Given the description of an element on the screen output the (x, y) to click on. 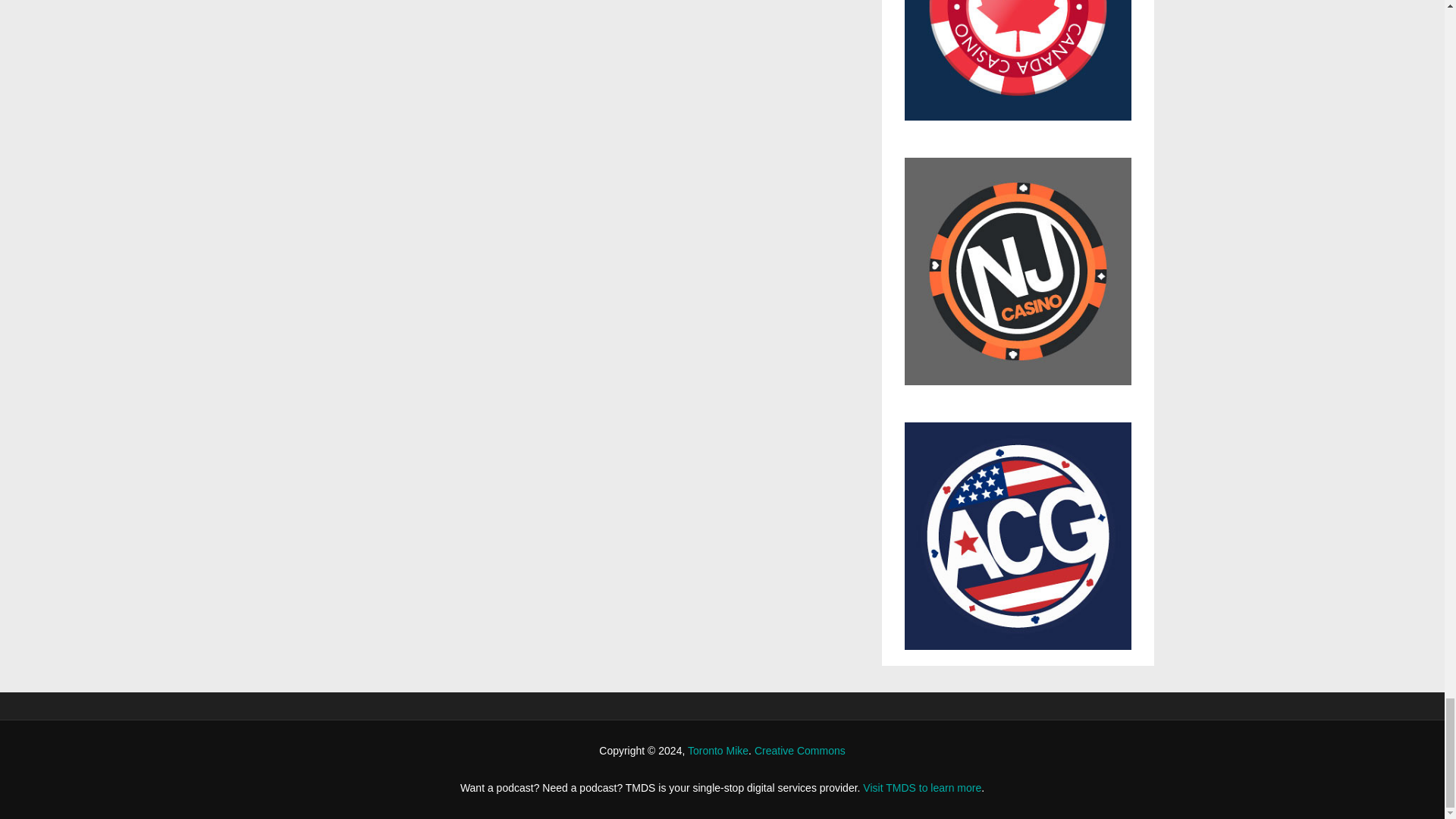
nj casino (1017, 279)
canada casino (1017, 67)
acg casino (1017, 536)
